Given the description of an element on the screen output the (x, y) to click on. 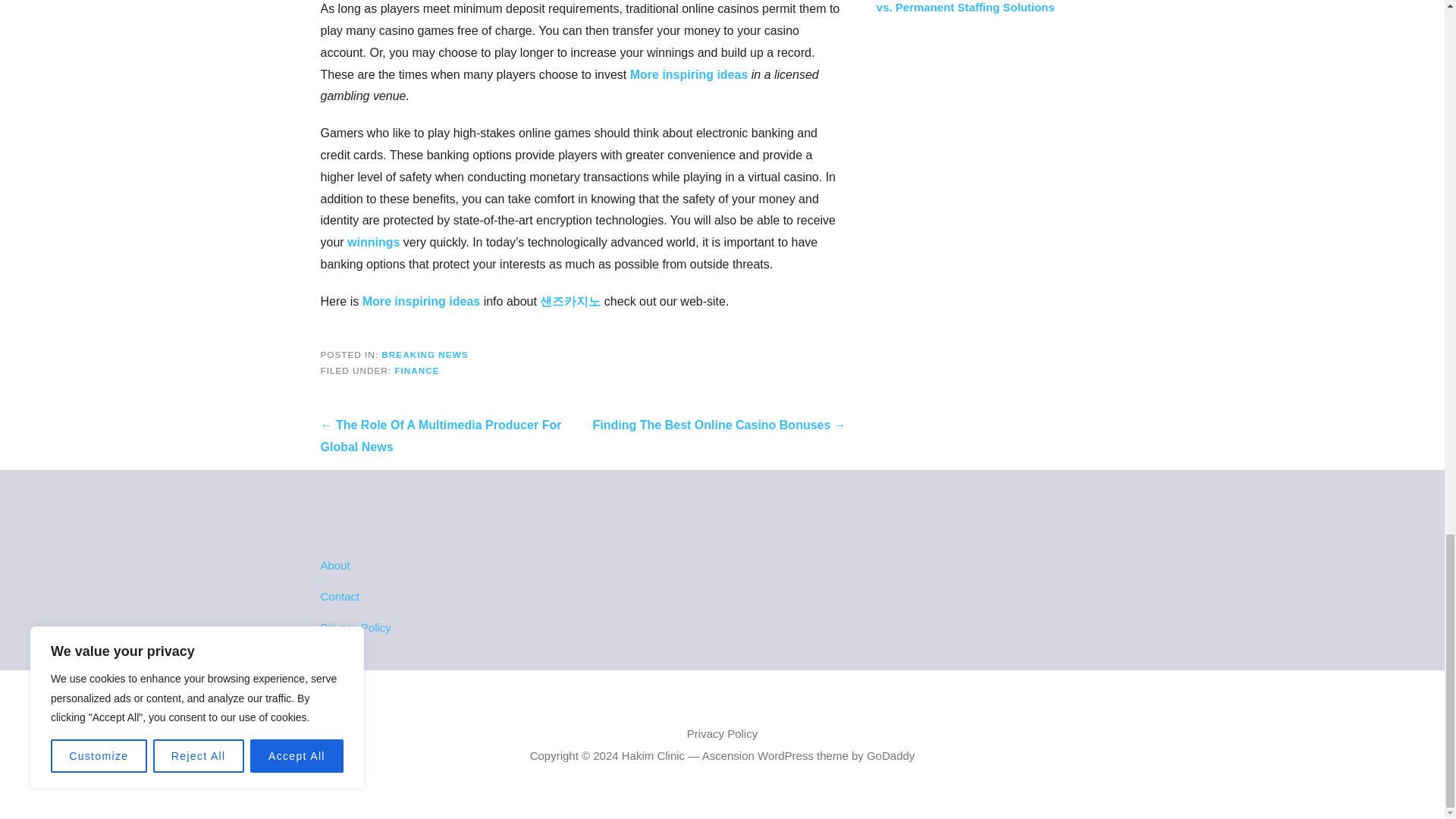
More inspiring ideas (689, 74)
More inspiring ideas (421, 300)
winnings (372, 241)
FINANCE (416, 370)
BREAKING NEWS (424, 354)
